Given the description of an element on the screen output the (x, y) to click on. 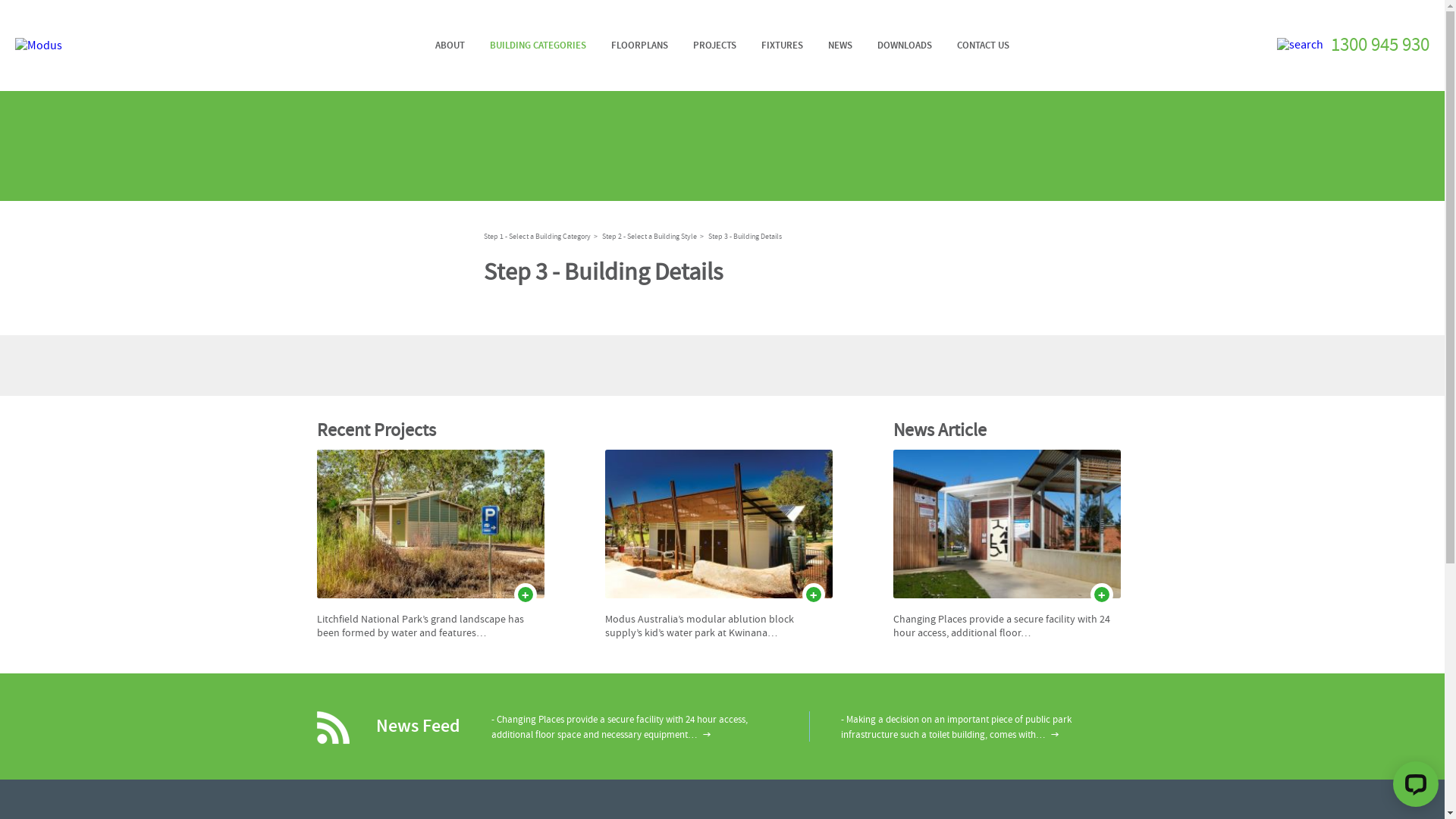
NEWS Element type: text (838, 45)
ABOUT Element type: text (449, 45)
PROJECTS Element type: text (713, 45)
DOWNLOADS Element type: text (904, 45)
1300 945 930 Element type: text (1379, 44)
Step 1 - Select a Building Category Element type: text (536, 236)
Step 2 - Select a Building Style Element type: text (649, 236)
FIXTURES Element type: text (781, 45)
CONTACT US Element type: text (981, 45)
BUILDING CATEGORIES Element type: text (536, 45)
FLOORPLANS Element type: text (638, 45)
